Given the description of an element on the screen output the (x, y) to click on. 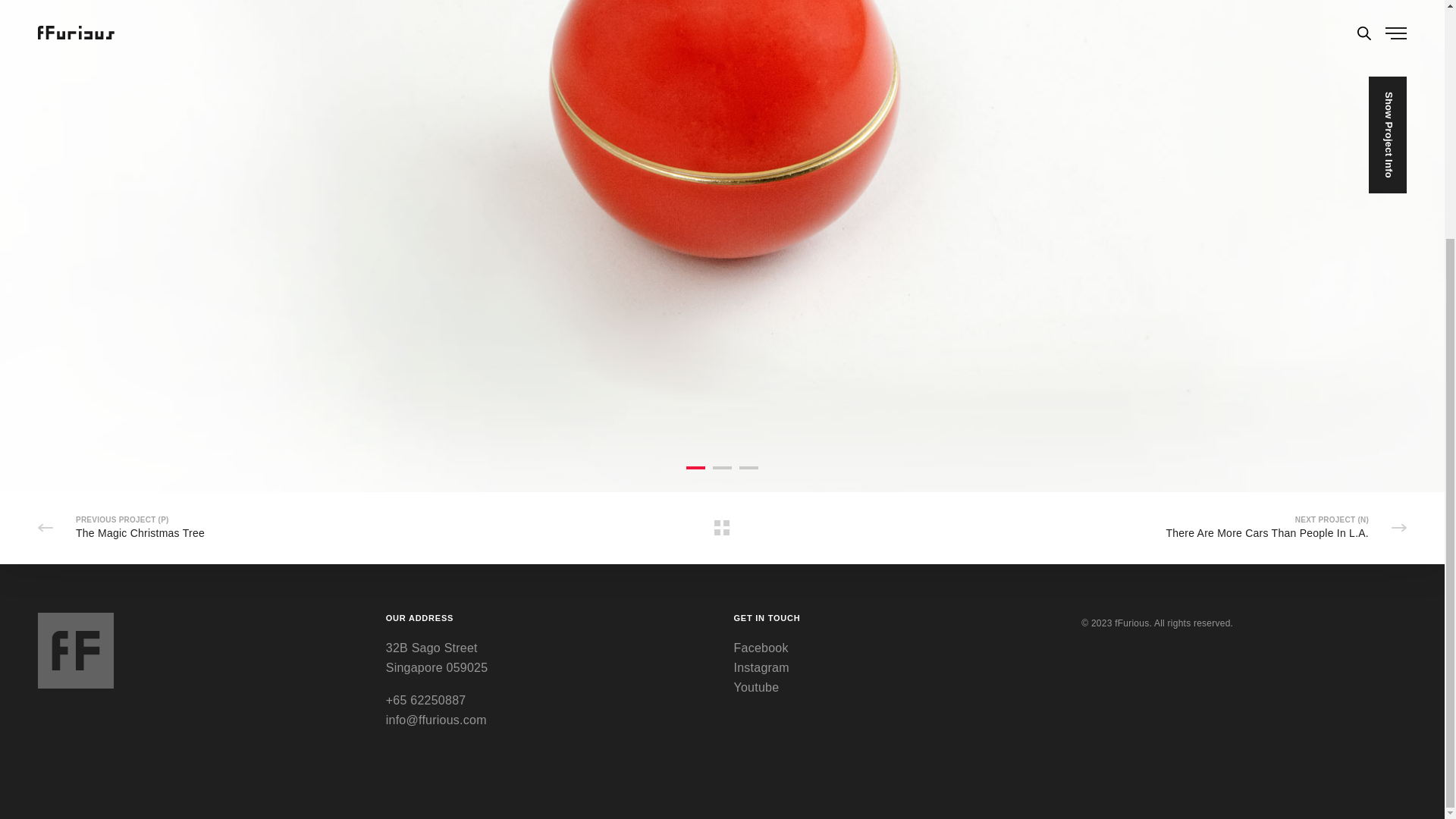
Back (721, 527)
Youtube (896, 361)
Instagram (896, 341)
Facebook (896, 321)
